Given the description of an element on the screen output the (x, y) to click on. 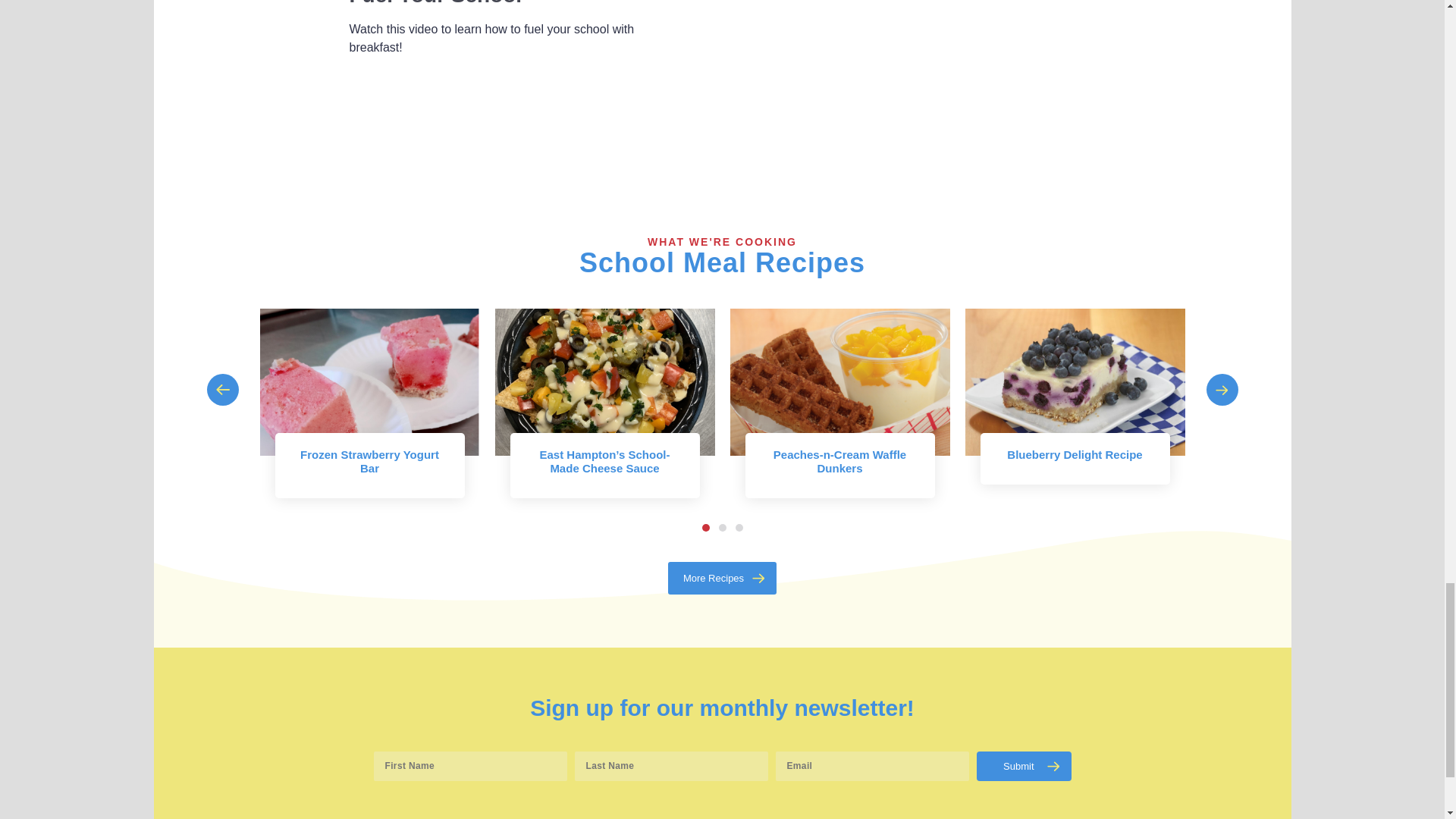
Fuel Your School with Breakfast! (908, 67)
Submit (1023, 766)
